Given the description of an element on the screen output the (x, y) to click on. 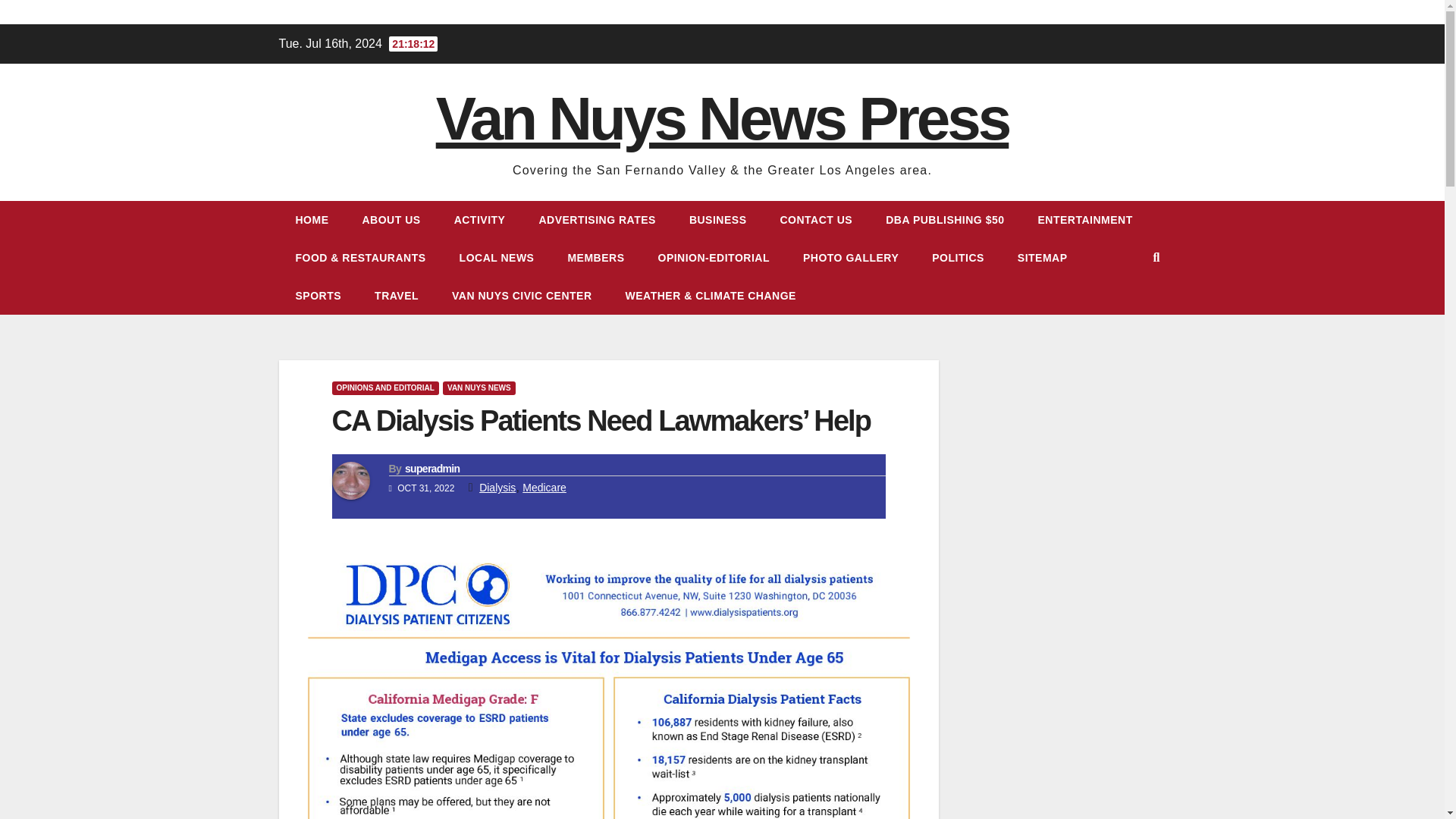
ACTIVITY (480, 219)
Van Nuys News Press (722, 118)
OPINION-EDITORIAL (714, 257)
LOCAL NEWS (496, 257)
PHOTO GALLERY (850, 257)
TRAVEL (396, 295)
ABOUT US (392, 219)
VAN NUYS NEWS (478, 387)
BUSINESS (717, 219)
POLITICS (958, 257)
HOME (312, 219)
MEMBERS (595, 257)
SPORTS (318, 295)
Home (312, 219)
SITEMAP (1042, 257)
